Given the description of an element on the screen output the (x, y) to click on. 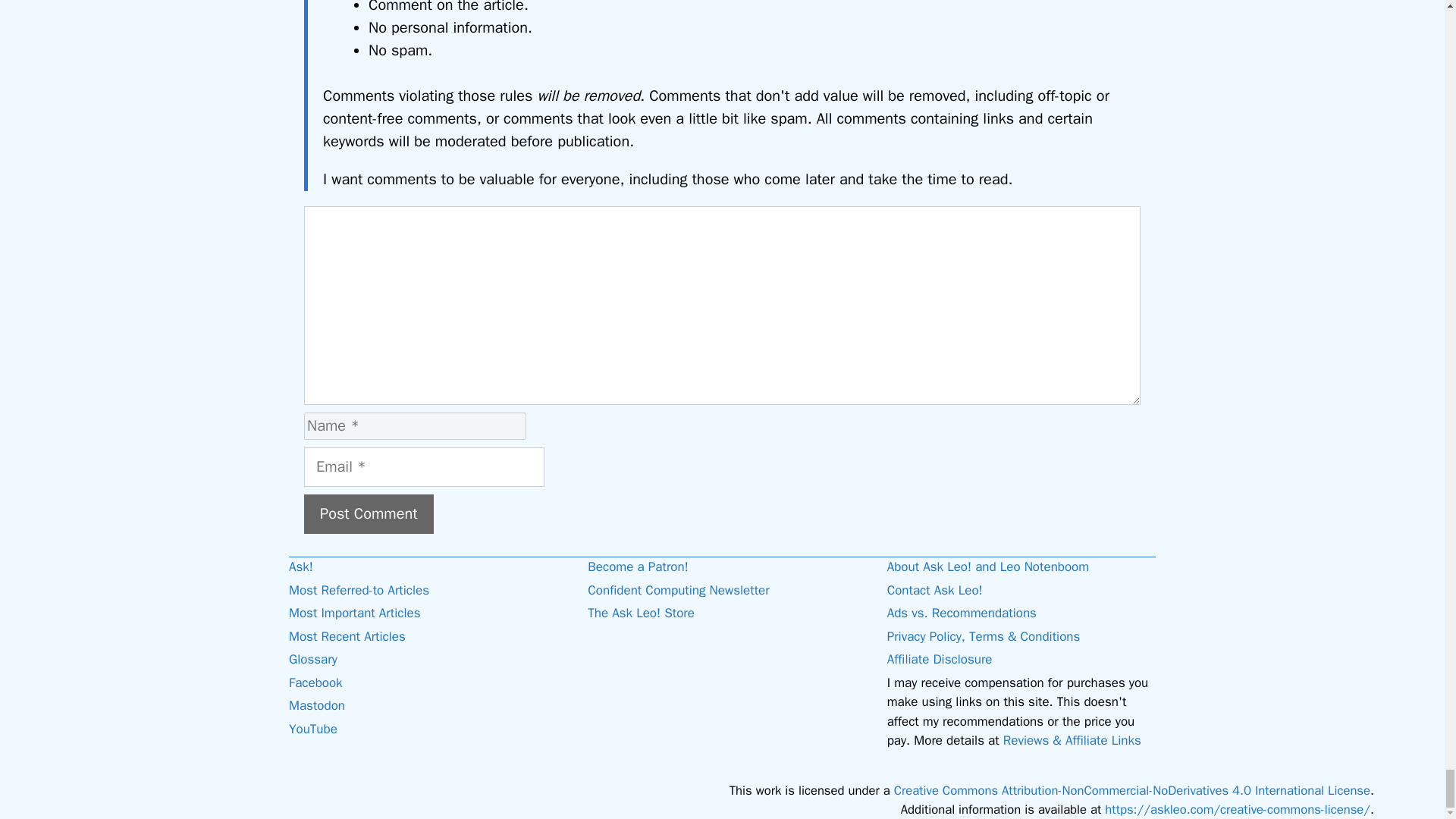
Post Comment (368, 513)
